Given the description of an element on the screen output the (x, y) to click on. 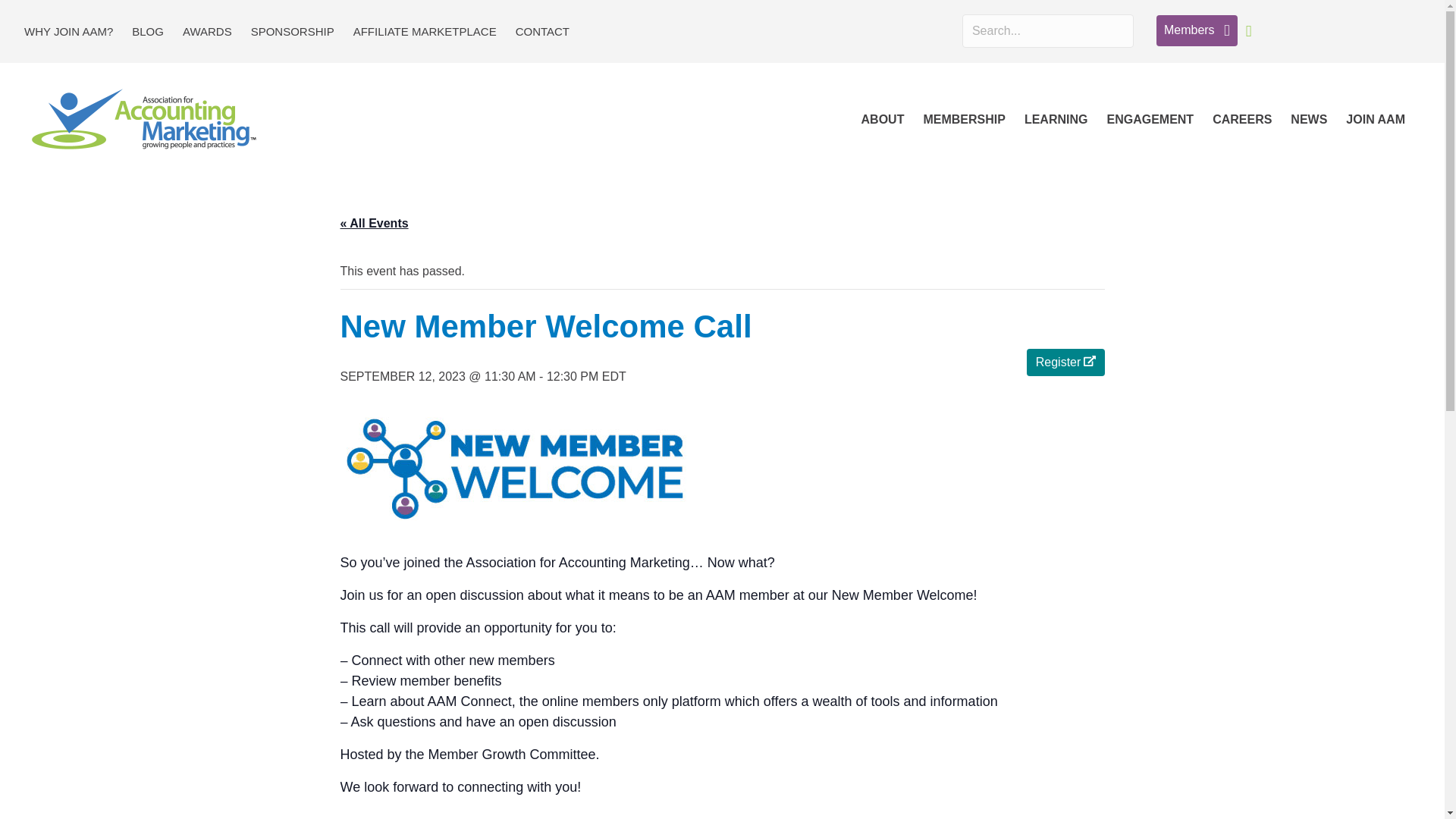
AFFILIATE MARKETPLACE (424, 30)
ENGAGEMENT (1149, 119)
MEMBERSHIP (963, 119)
LEARNING (1055, 119)
CONTACT (542, 30)
SPONSORSHIP (292, 30)
AWARDS (207, 30)
ABOUT (882, 119)
BLOG (147, 30)
WHY JOIN AAM? (68, 30)
NEWS (1308, 119)
JOIN AAM (1374, 119)
aam-logo-transparent-600 (143, 119)
CAREERS (1242, 119)
Members (1196, 30)
